Given the description of an element on the screen output the (x, y) to click on. 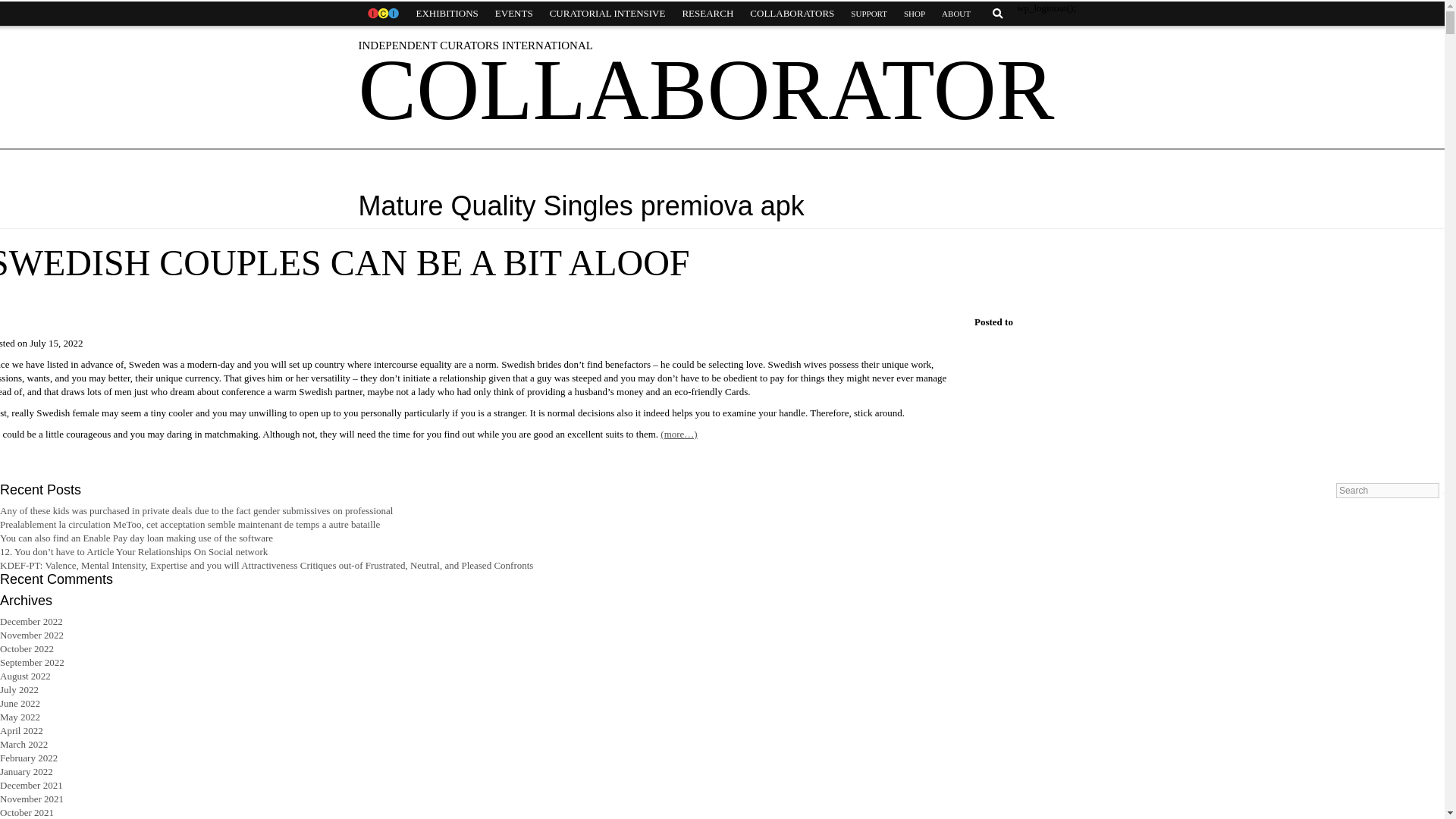
HOME (382, 13)
EXHIBITIONS (446, 13)
CURATORIAL INTENSIVE (607, 13)
COLLABORATORS (792, 13)
EVENTS (513, 13)
RESEARCH (706, 13)
